Given the description of an element on the screen output the (x, y) to click on. 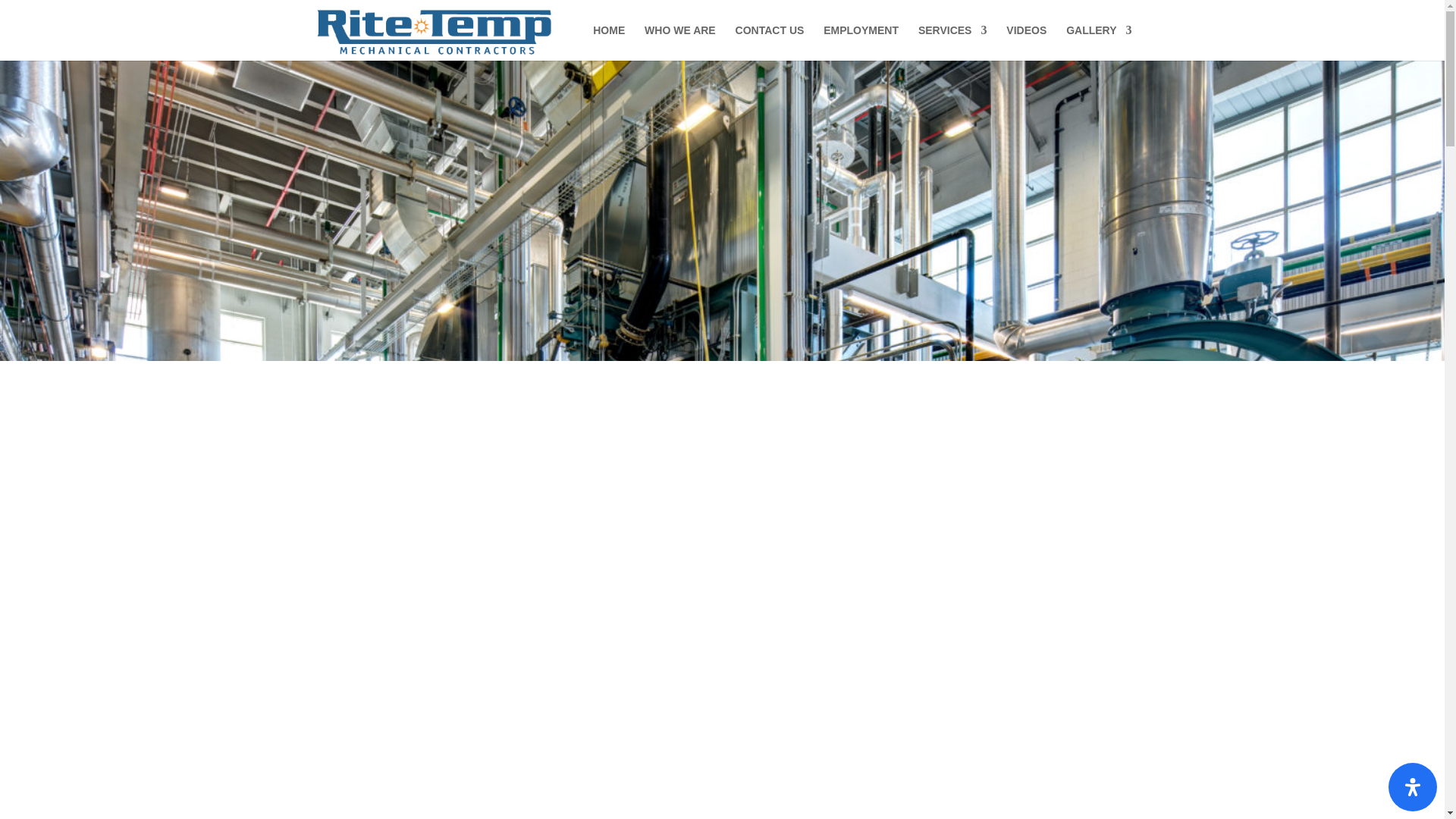
Accessibility (1413, 786)
EMPLOYMENT (861, 42)
HOME (608, 42)
CONTACT US (770, 42)
SERVICES (952, 42)
WHO WE ARE (680, 42)
VIDEOS (1026, 42)
GALLERY (1098, 42)
